Given the description of an element on the screen output the (x, y) to click on. 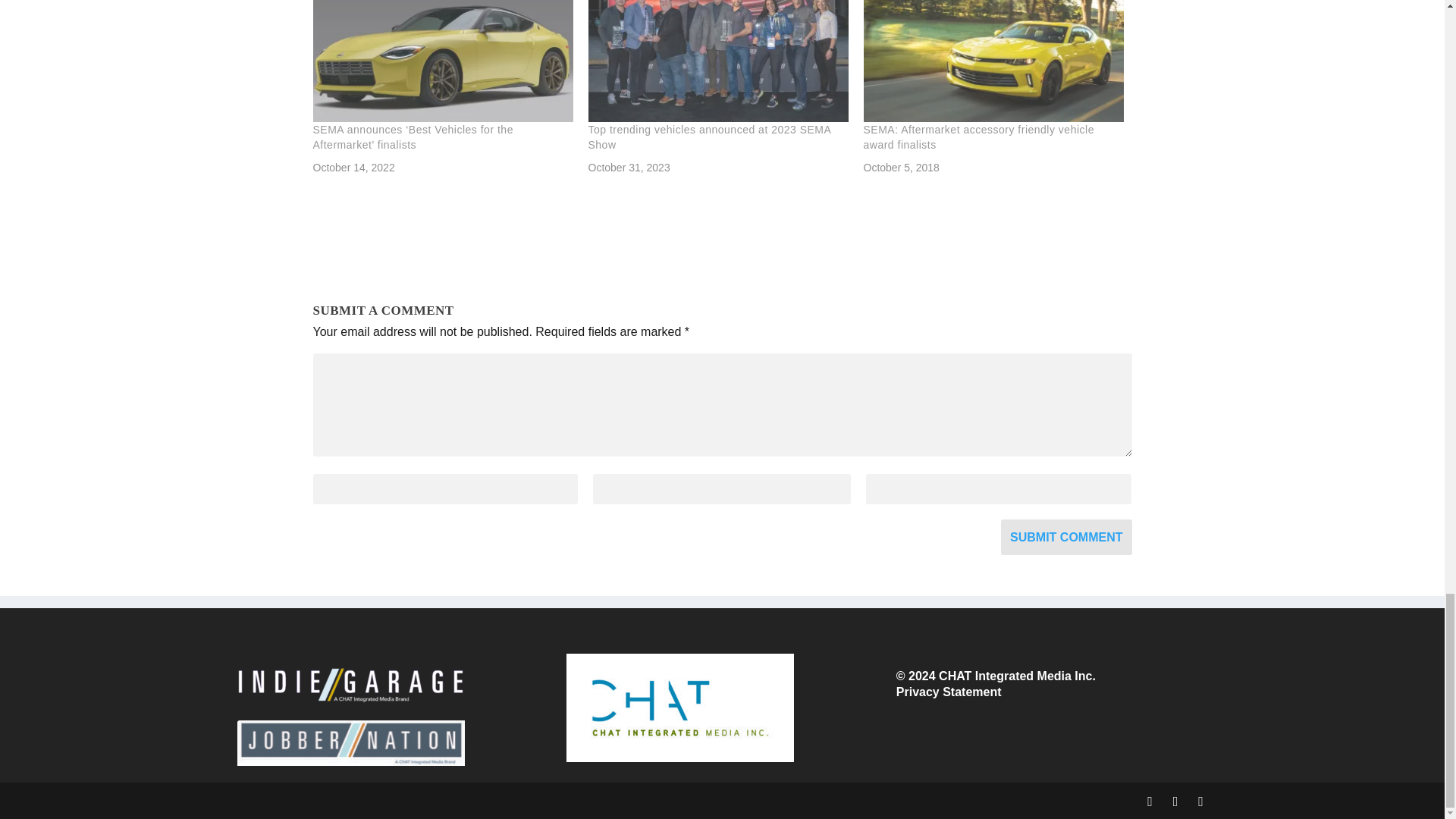
Top trending vehicles announced at 2023 SEMA Show (718, 61)
SEMA: Aftermarket accessory friendly vehicle award finalists (992, 61)
SEMA: Aftermarket accessory friendly vehicle award finalists (978, 136)
SUBMIT COMMENT (1066, 537)
Top trending vehicles announced at 2023 SEMA Show (709, 136)
Top trending vehicles announced at 2023 SEMA Show (709, 136)
